Given the description of an element on the screen output the (x, y) to click on. 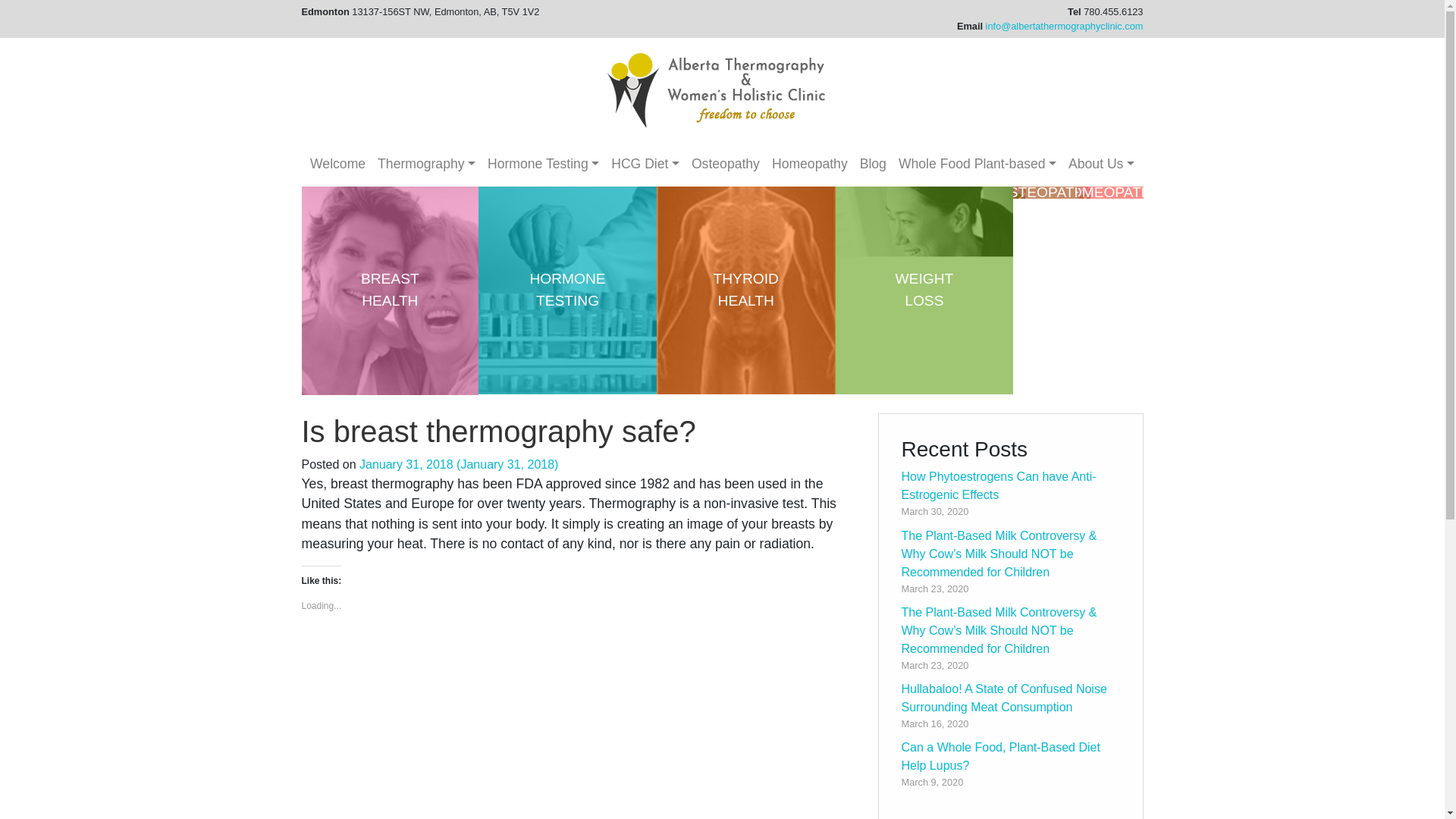
Thermography (426, 163)
Osteopathy (725, 163)
HCG Diet (645, 163)
Welcome (337, 163)
Hormone Testing (543, 163)
Blog (872, 163)
Homeopathy (809, 163)
Thermography (426, 163)
Welcome (337, 163)
Whole Food Plant-based (977, 163)
